Given the description of an element on the screen output the (x, y) to click on. 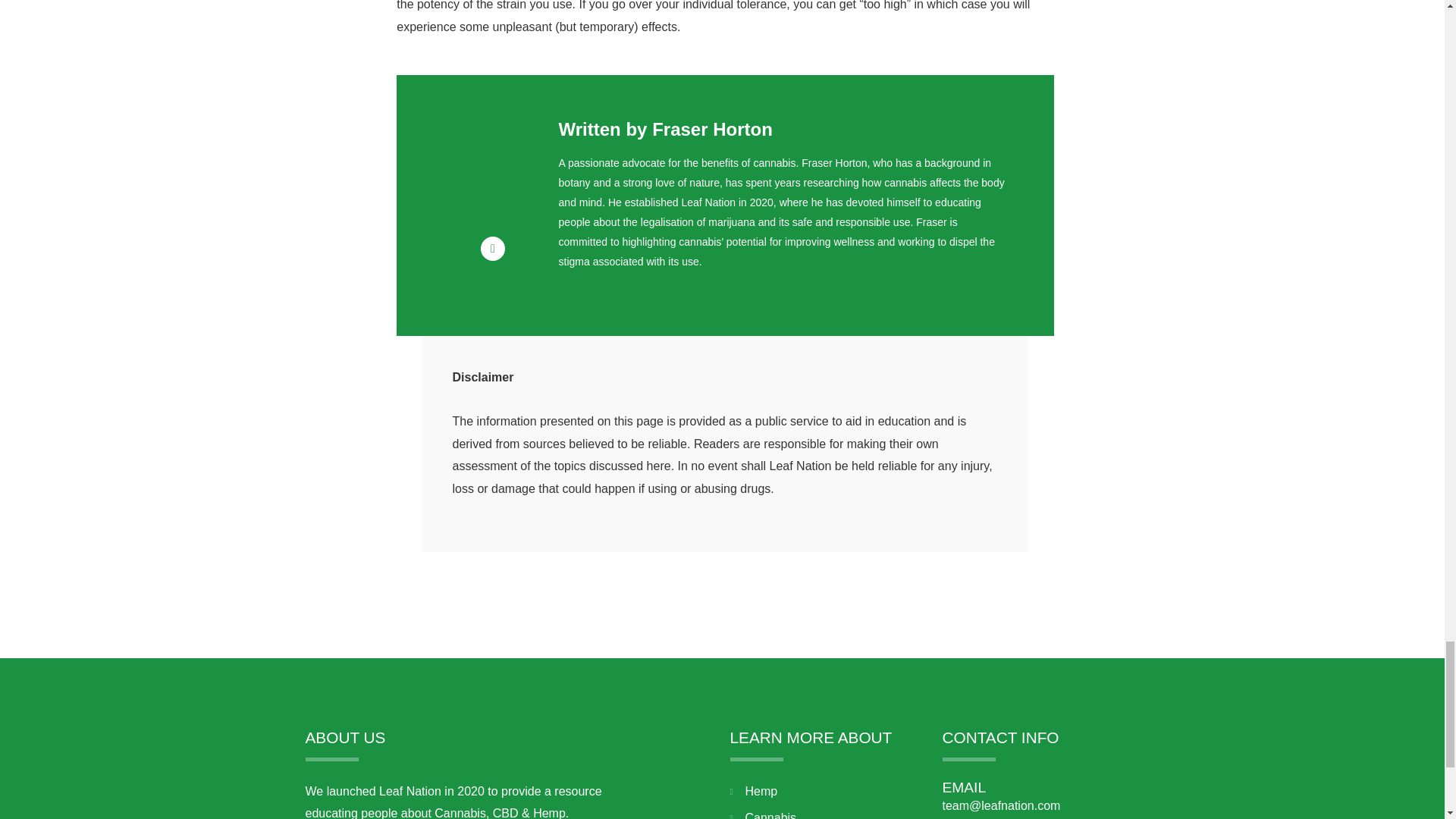
Cannabis (827, 812)
Hemp (827, 791)
Written by Fraser Horton (666, 128)
